Given the description of an element on the screen output the (x, y) to click on. 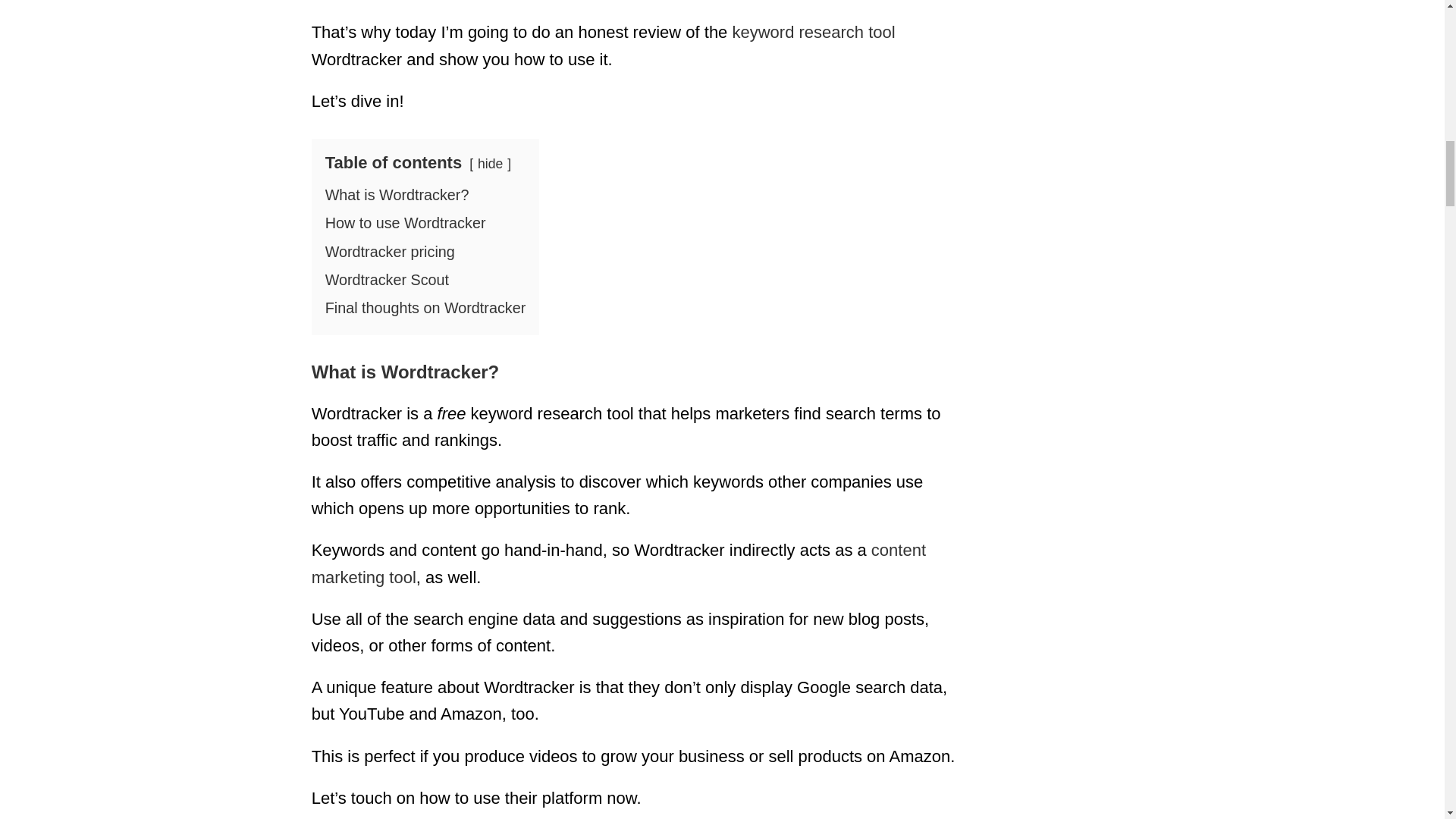
Wordtracker pricing (389, 250)
content marketing tool (618, 563)
Final thoughts on Wordtracker (424, 307)
How to use Wordtracker (405, 222)
keyword research tool (813, 31)
Wordtracker Scout (386, 279)
hide (489, 163)
What is Wordtracker? (396, 194)
